Given the description of an element on the screen output the (x, y) to click on. 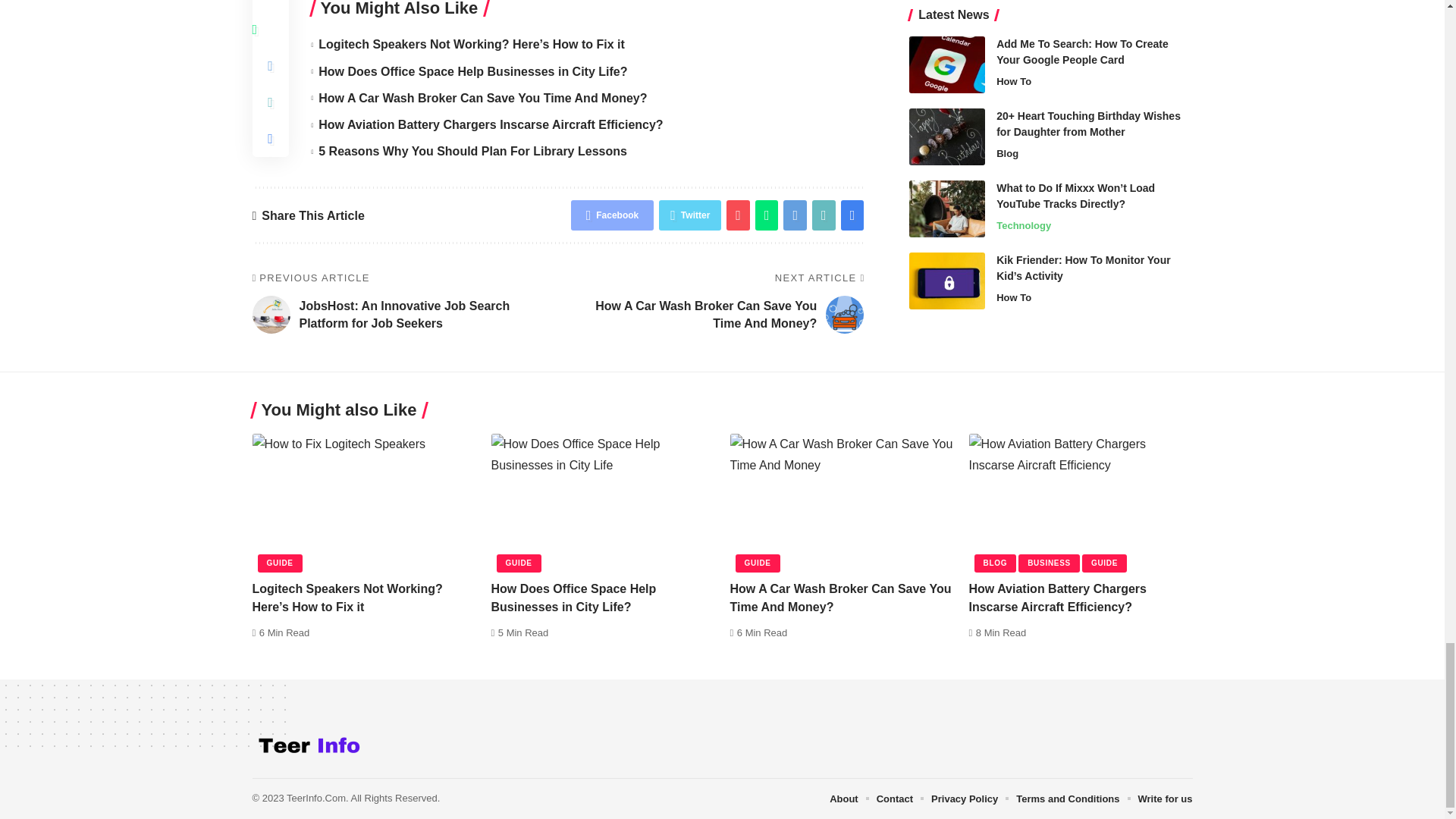
Teer Info (308, 747)
How A Car Wash Broker Can Save You Time And Money? (841, 501)
How Does Office Space Help Businesses in City Life? (603, 501)
How Aviation Battery Chargers Inscarse Aircraft Efficiency? (1080, 501)
